Given the description of an element on the screen output the (x, y) to click on. 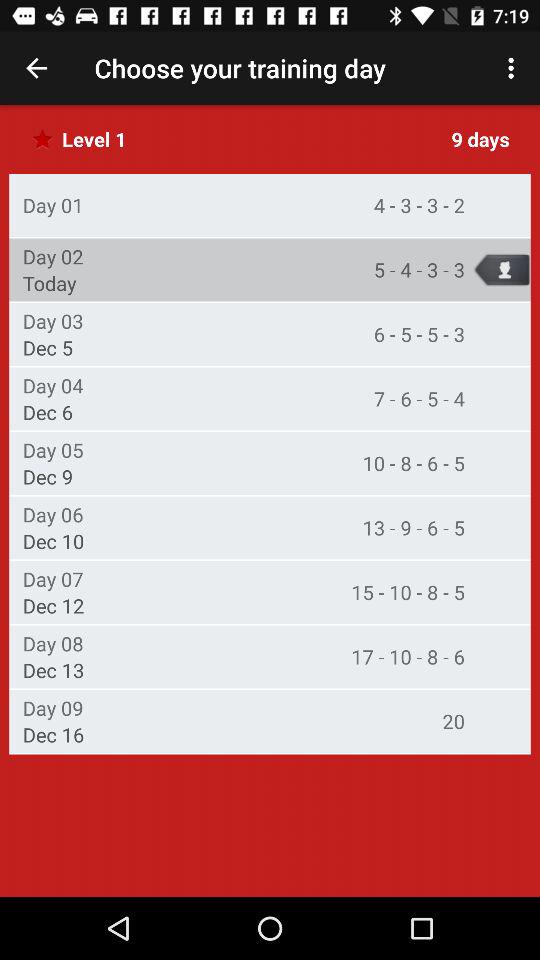
turn on item next to the choose your training icon (513, 67)
